Given the description of an element on the screen output the (x, y) to click on. 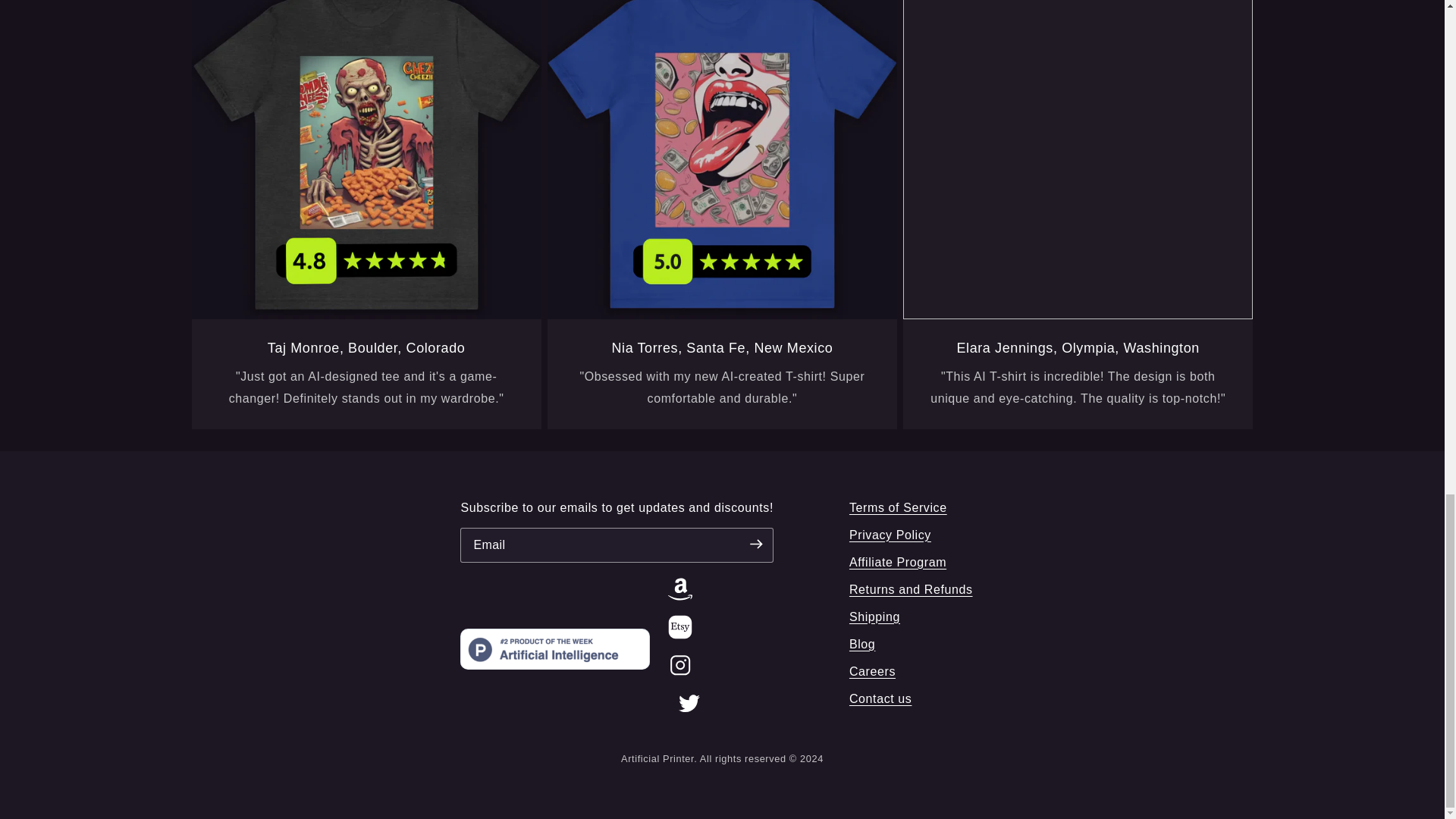
Terms of Service (897, 507)
Blog (861, 644)
Careers (871, 671)
Shipping (873, 617)
Affiliate Program (897, 562)
Contact us (879, 698)
Returns and Refunds (910, 589)
Privacy Policy (889, 535)
